Given the description of an element on the screen output the (x, y) to click on. 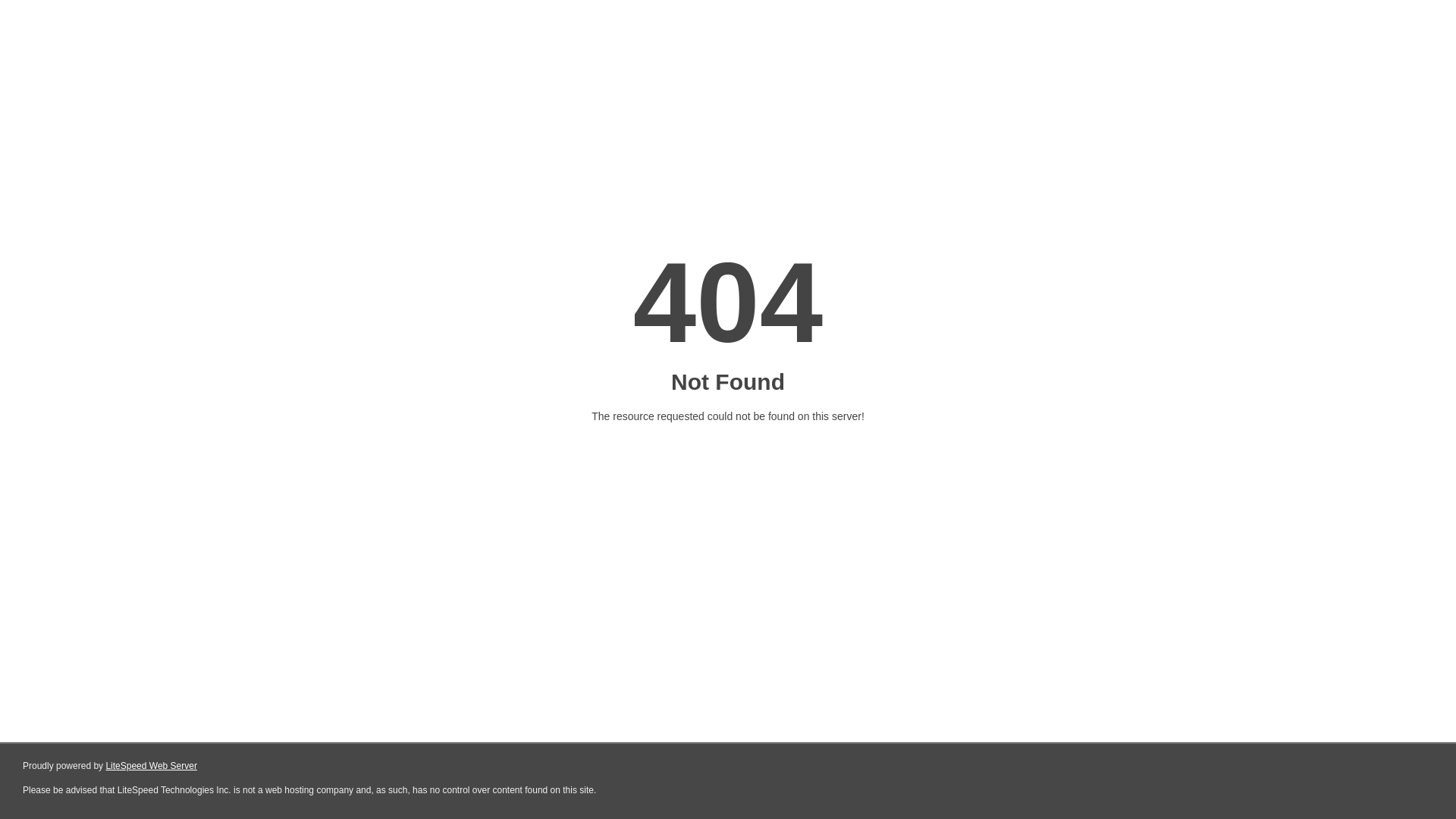
LiteSpeed Web Server Element type: text (151, 765)
